Given the description of an element on the screen output the (x, y) to click on. 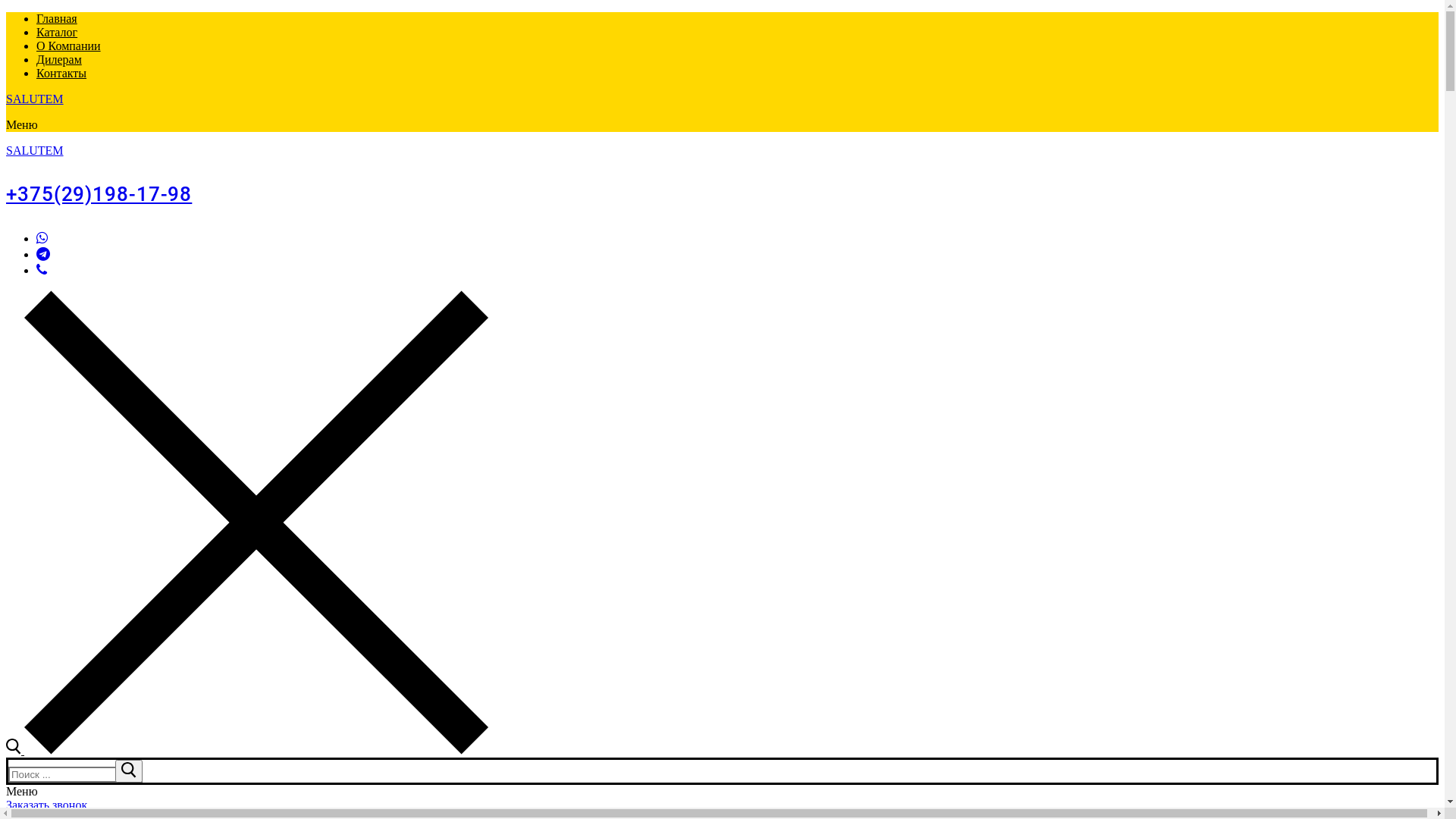
Viber Element type: hover (41, 269)
+375(29)198-17-98 Element type: text (98, 193)
SALUTEM Element type: text (34, 98)
SALUTEM Element type: text (34, 150)
WhatsApp Element type: hover (41, 237)
Telegram Element type: hover (43, 253)
